Given the description of an element on the screen output the (x, y) to click on. 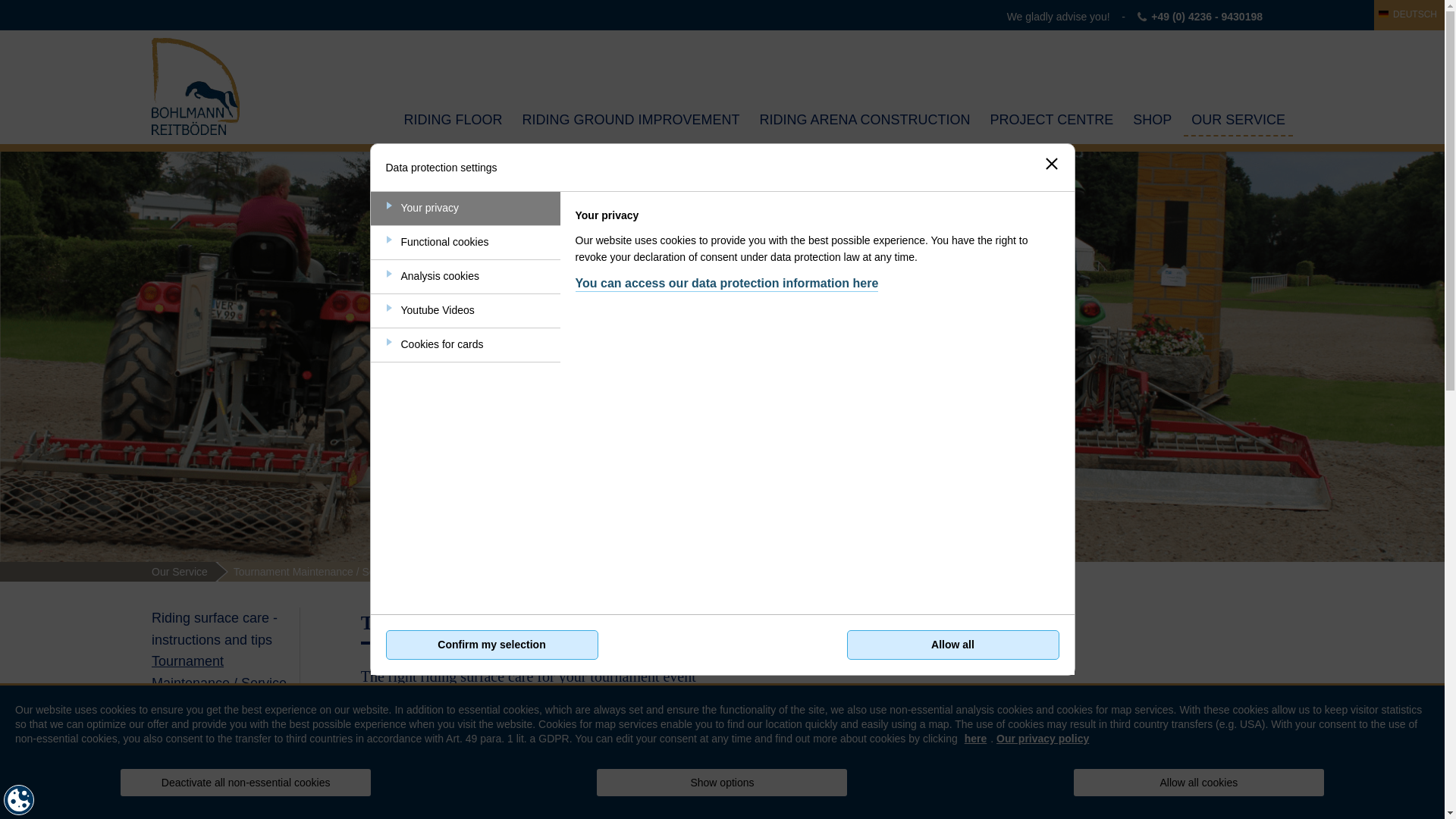
RIDING ARENA CONSTRUCTION (865, 120)
Cookies Settings (18, 799)
RIDING GROUND IMPROVEMENT (631, 120)
RIDING FLOOR (453, 120)
